Given the description of an element on the screen output the (x, y) to click on. 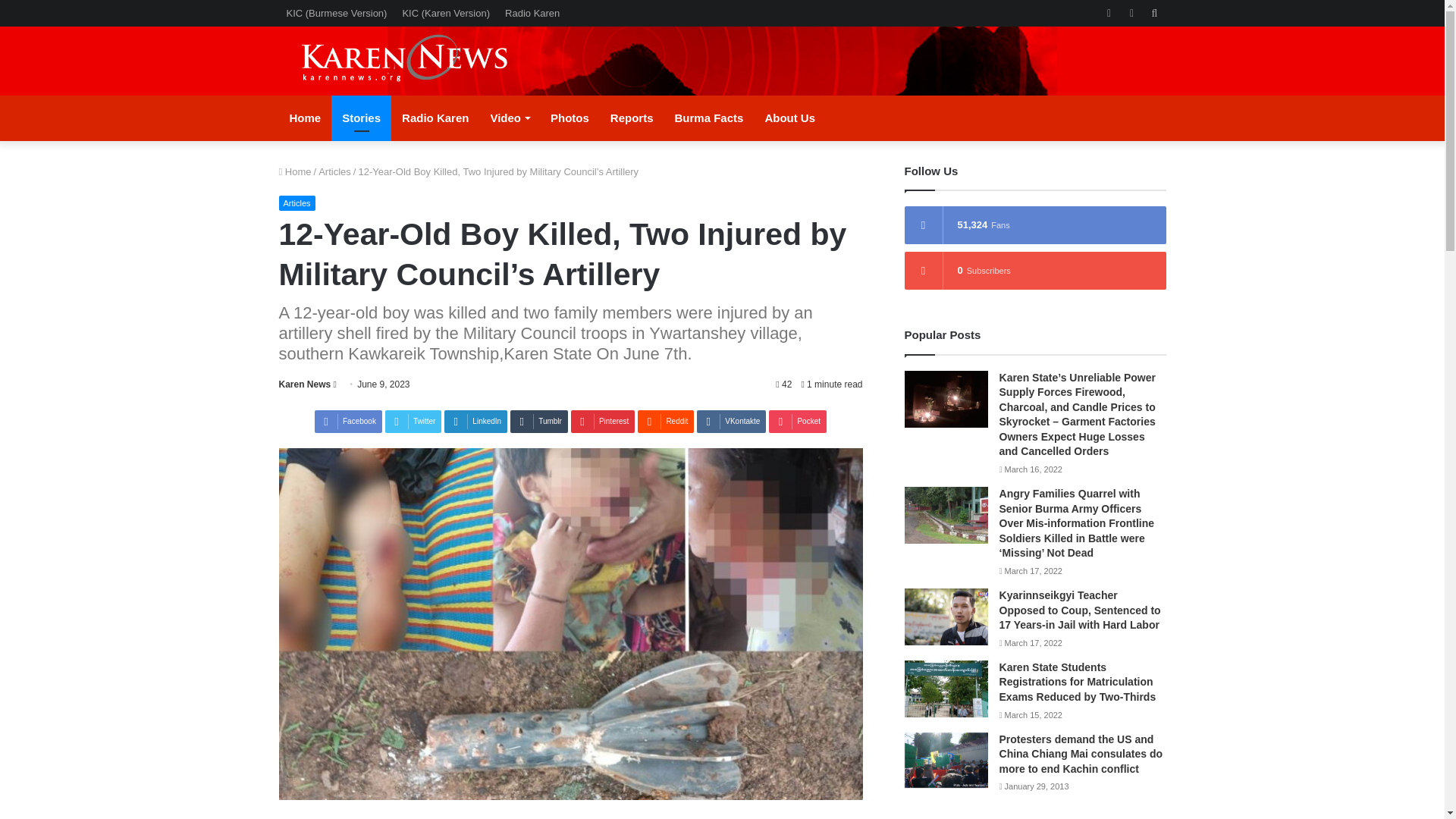
Radio Karen (435, 117)
Reddit (665, 421)
Pinterest (602, 421)
Karen News (419, 60)
VKontakte (731, 421)
Reports (631, 117)
Radio Karen (532, 13)
Karen News (305, 384)
LinkedIn (475, 421)
YouTube (1131, 13)
Home (295, 171)
Twitter (413, 421)
About Us (789, 117)
Burma Facts (708, 117)
Search for (1154, 13)
